Given the description of an element on the screen output the (x, y) to click on. 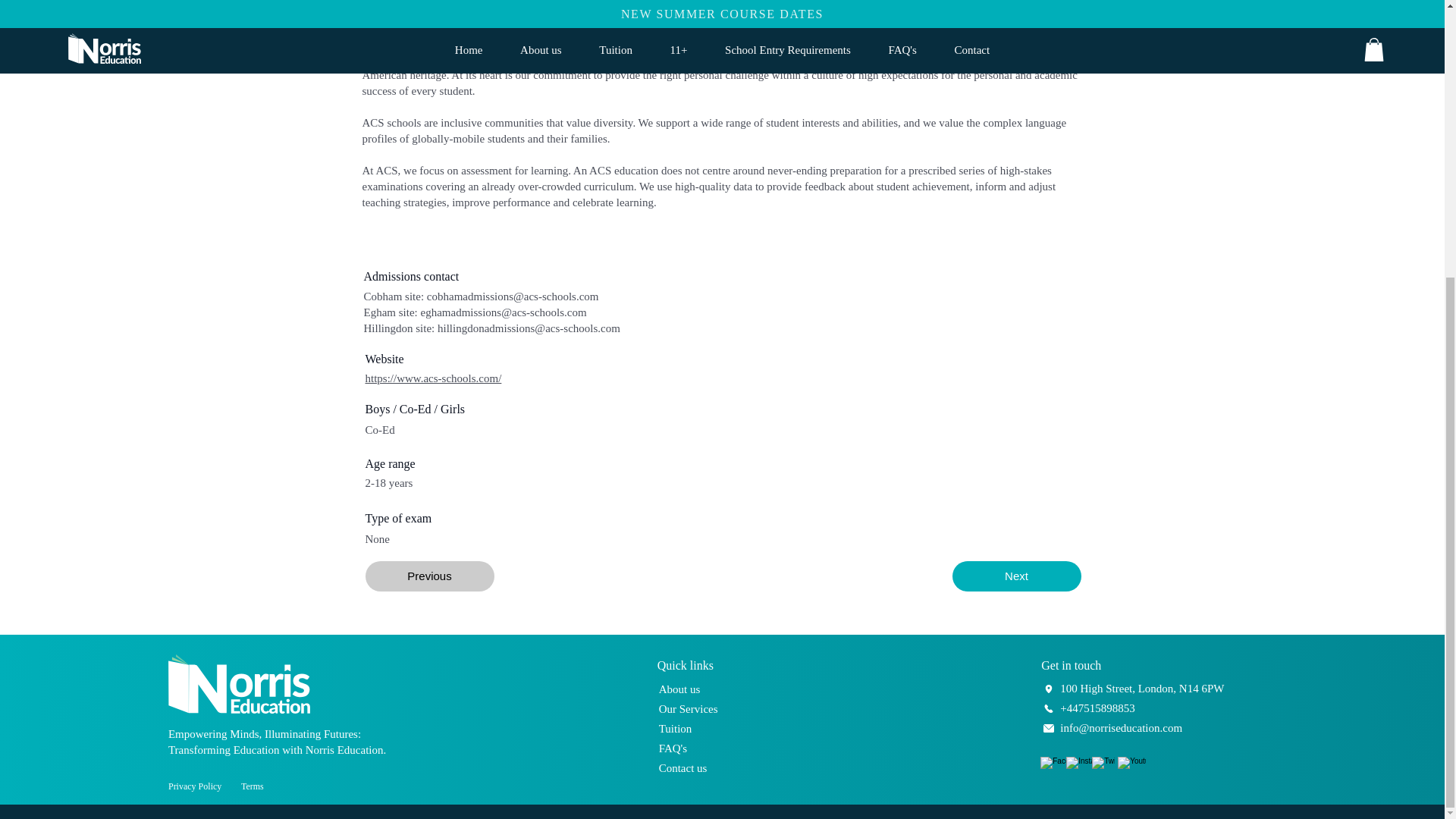
Next (1016, 576)
Our Services (688, 708)
Privacy Policy (194, 786)
100 High Street, London, N14 6PW (1141, 688)
FAQ's (673, 748)
Previous (430, 576)
Contact us (683, 767)
Terms (252, 786)
About us (679, 689)
